Given the description of an element on the screen output the (x, y) to click on. 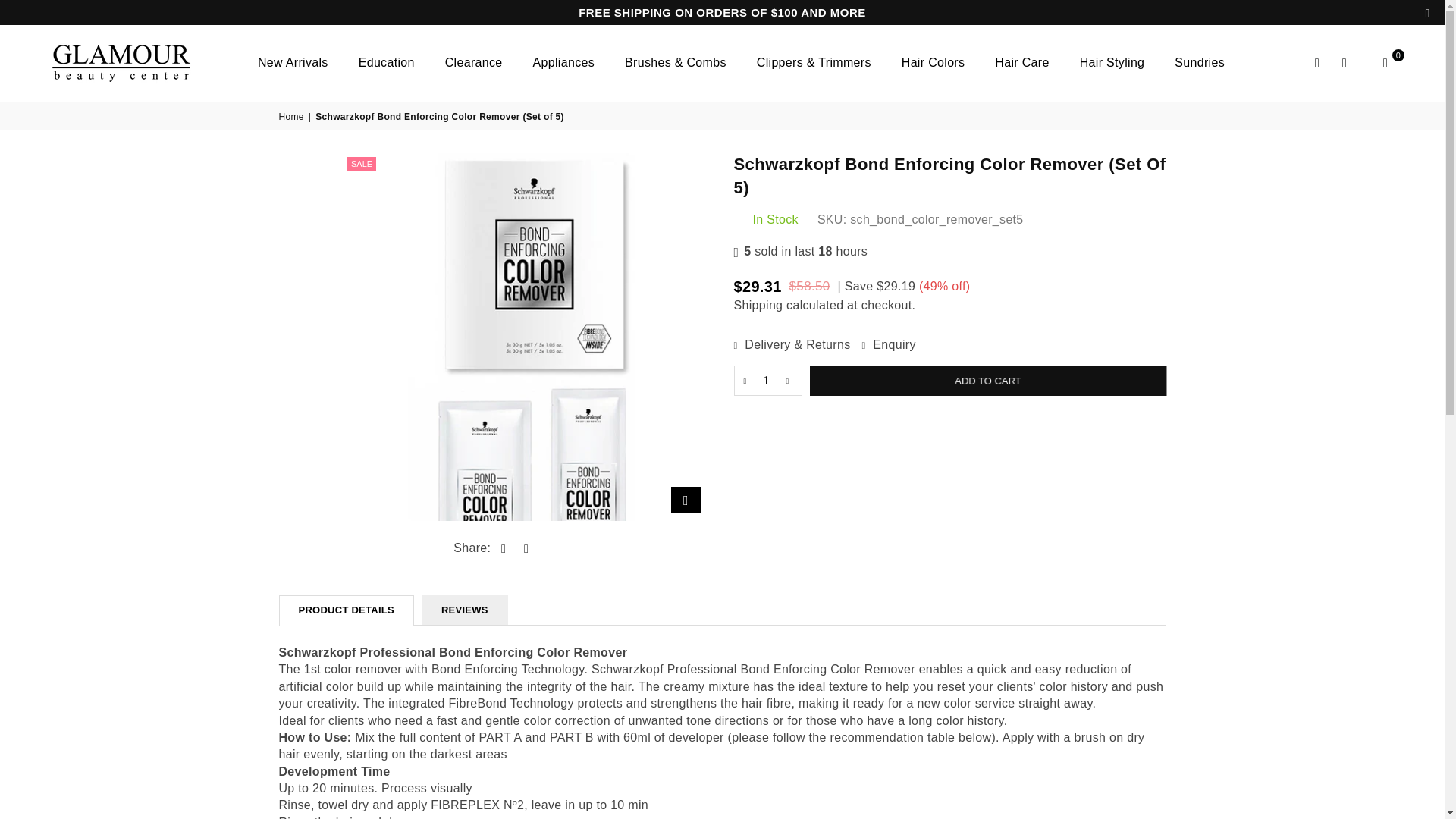
Hair Care (1021, 63)
GLAMOUR BEAUTY CENTER (132, 62)
Hair Colors (932, 63)
Clearance (473, 63)
Cart (1385, 62)
Appliances (563, 63)
Back to the home page (292, 116)
Education (386, 63)
New Arrivals (292, 63)
Quantity (767, 380)
